Given the description of an element on the screen output the (x, y) to click on. 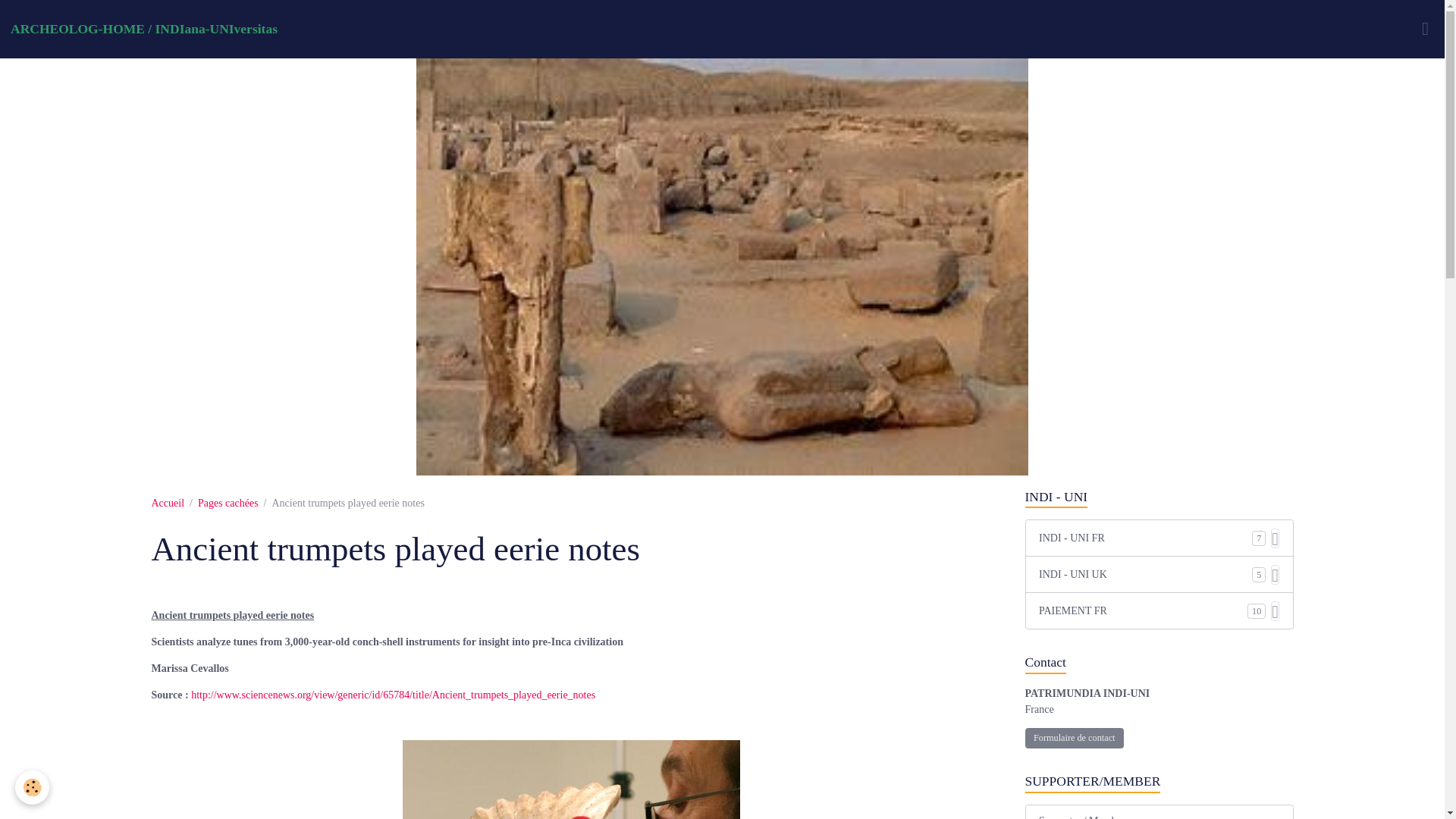
Accueil (167, 502)
Formulaire de contact (1074, 738)
INDI - UNI UK (1145, 574)
INDI - UNI (1159, 496)
PAIEMENT FR (1143, 610)
INDI - UNI FR (1145, 537)
